Given the description of an element on the screen output the (x, y) to click on. 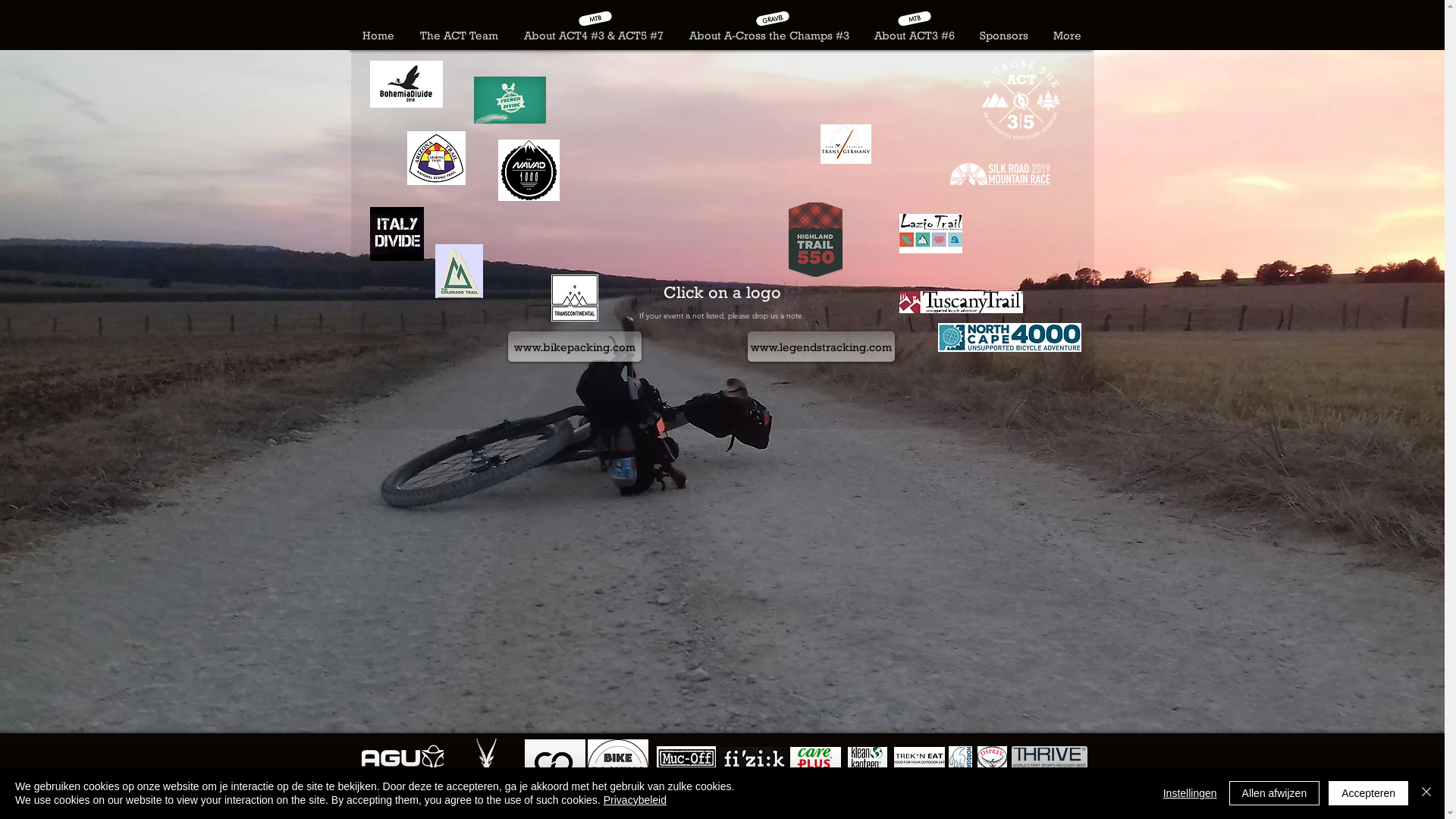
MTB Element type: text (594, 15)
About A-Cross the Champs #3 Element type: text (768, 35)
GRAVEL Element type: text (771, 15)
Allen afwijzen Element type: text (1274, 793)
Home Element type: text (378, 35)
Sponsors Element type: text (1002, 35)
MTB Element type: text (913, 15)
Privacybeleid Element type: text (634, 799)
www.legendstracking.com Element type: text (820, 346)
Accepteren Element type: text (1368, 793)
The ACT Team Element type: text (458, 35)
www.bikepacking.com Element type: text (574, 346)
